Given the description of an element on the screen output the (x, y) to click on. 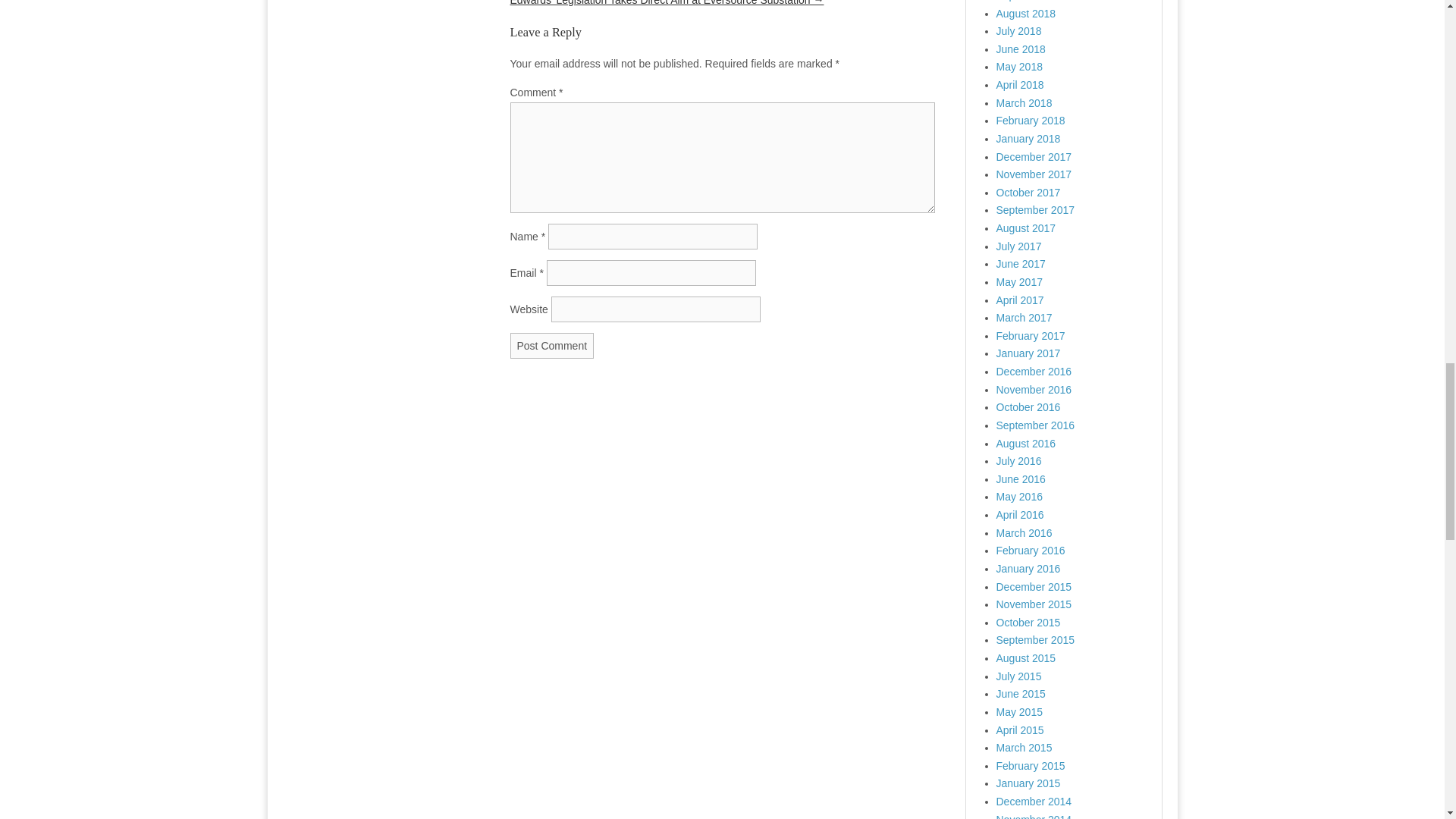
Post Comment (551, 345)
Post Comment (551, 345)
